Given the description of an element on the screen output the (x, y) to click on. 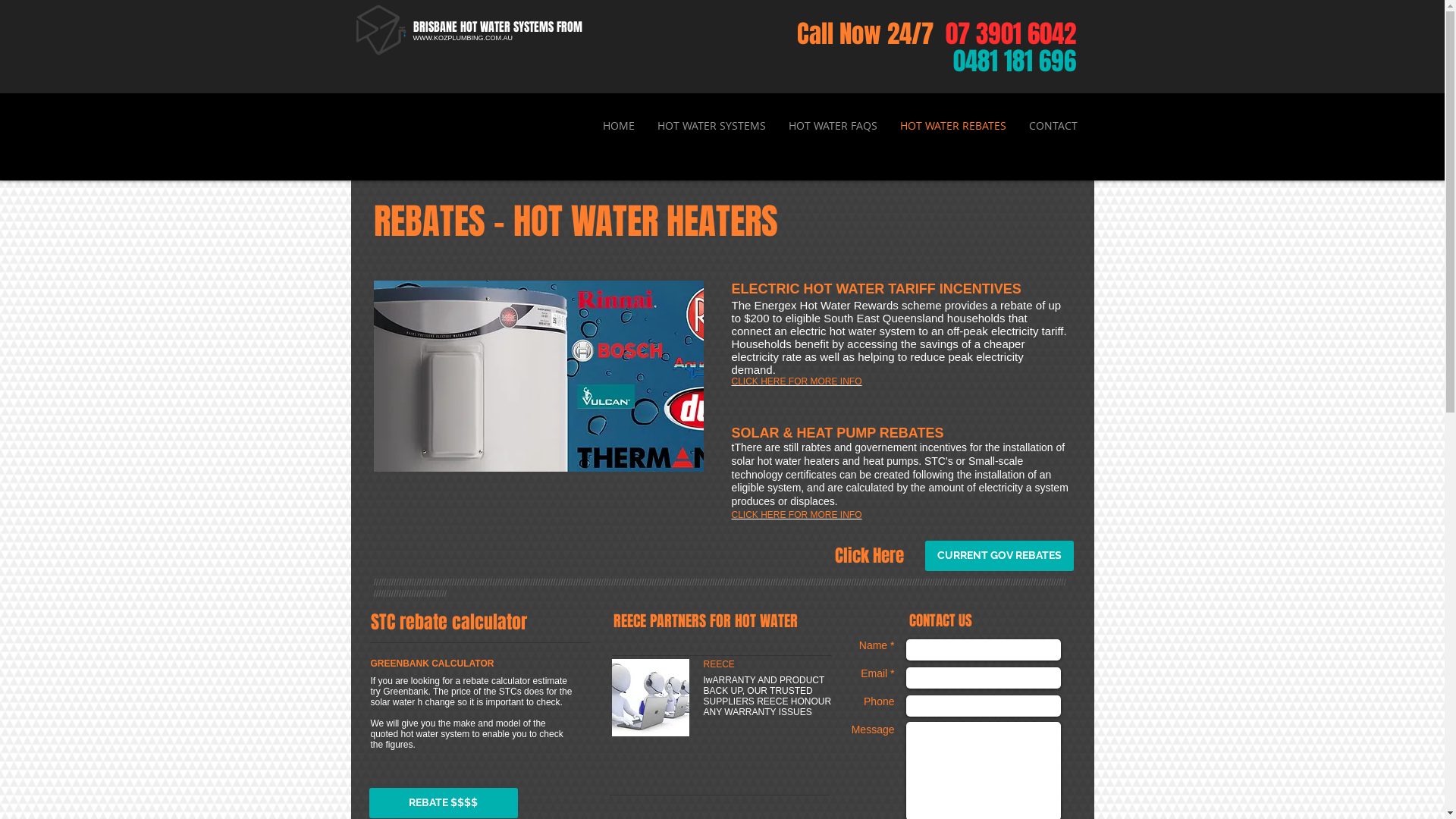
HOT WATER REBATES Element type: text (952, 125)
k-oz Plumbing customer reviews truelocal.jpg Element type: hover (649, 697)
WWW.KOZPLUMBING.COM.AU Element type: text (462, 37)
HOT WATER SYSTEMS Element type: text (711, 125)
CURRENT GOV REBATES Element type: text (999, 555)
HOT WATER FAQS Element type: text (832, 125)
CLICK HERE FOR MORE INFO Element type: text (796, 381)
CLICK HERE FOR MORE INFO Element type: text (796, 514)
CONTACT Element type: text (1052, 125)
REBATE $$$$ Element type: text (442, 802)
BRISBANE HOT WATER SYSTEMS FROM Element type: text (496, 26)
logo 3.png Element type: hover (381, 29)
HOME Element type: text (618, 125)
